Given the description of an element on the screen output the (x, y) to click on. 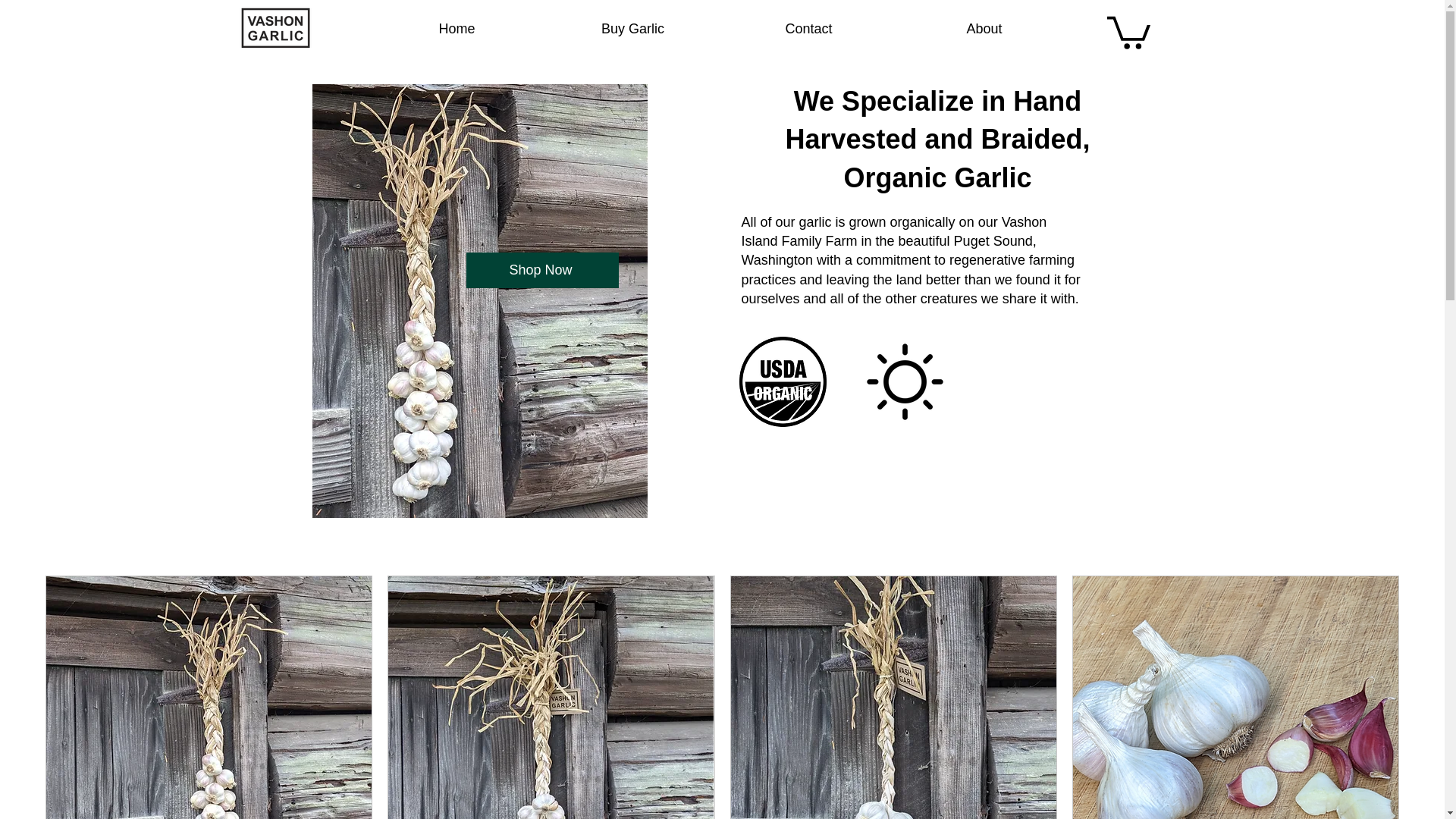
Shop Now (541, 270)
Buy Garlic (632, 28)
Home (456, 28)
Certified Organic.png (781, 381)
Contact (808, 28)
About (983, 28)
